Given the description of an element on the screen output the (x, y) to click on. 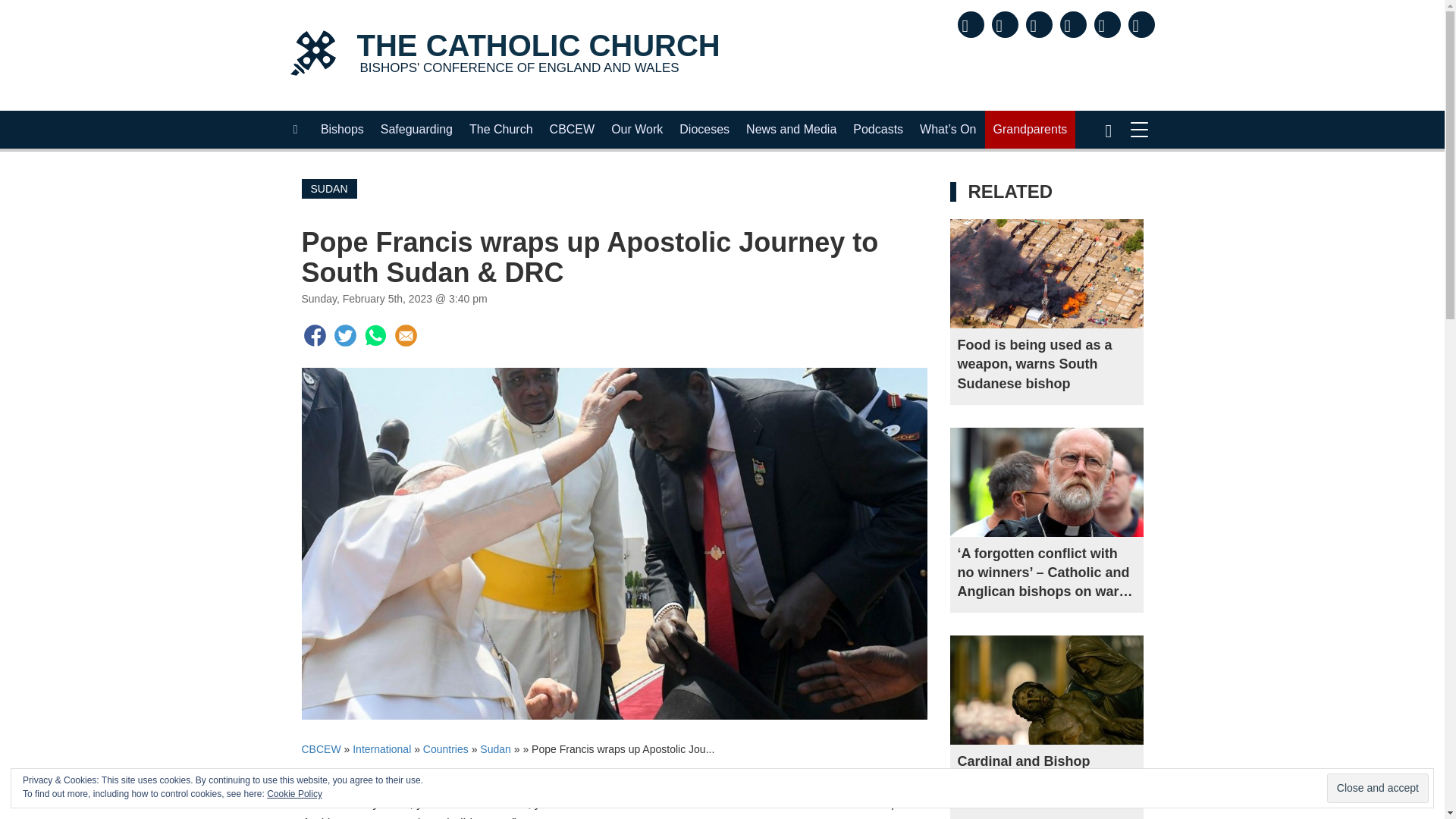
Close and accept (1377, 788)
Safeguarding (504, 55)
Bishops (416, 129)
The Church (342, 129)
CBCEW (501, 129)
